Given the description of an element on the screen output the (x, y) to click on. 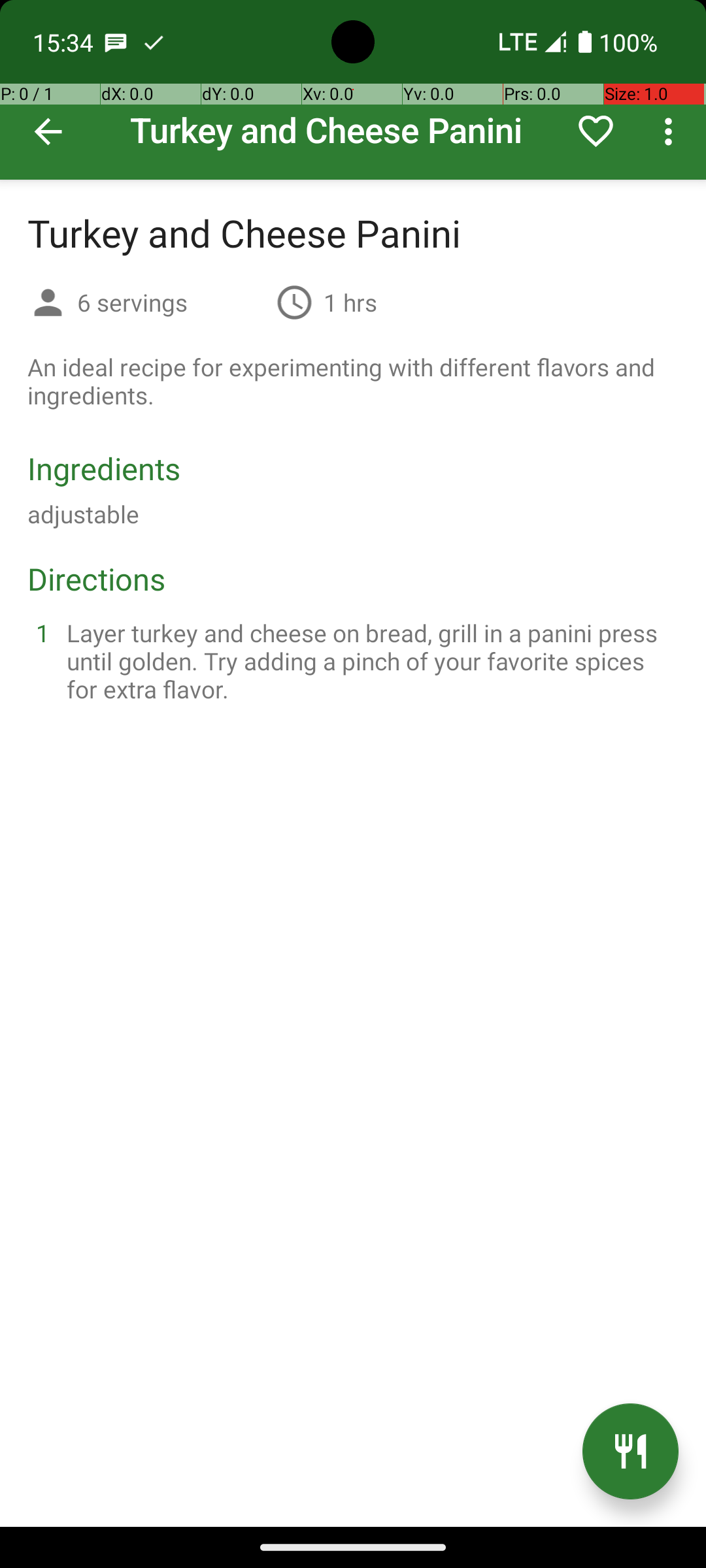
Turkey and Cheese Panini Element type: android.widget.FrameLayout (353, 89)
Layer turkey and cheese on bread, grill in a panini press until golden. Try adding a pinch of your favorite spices for extra flavor. Element type: android.widget.TextView (368, 660)
